Given the description of an element on the screen output the (x, y) to click on. 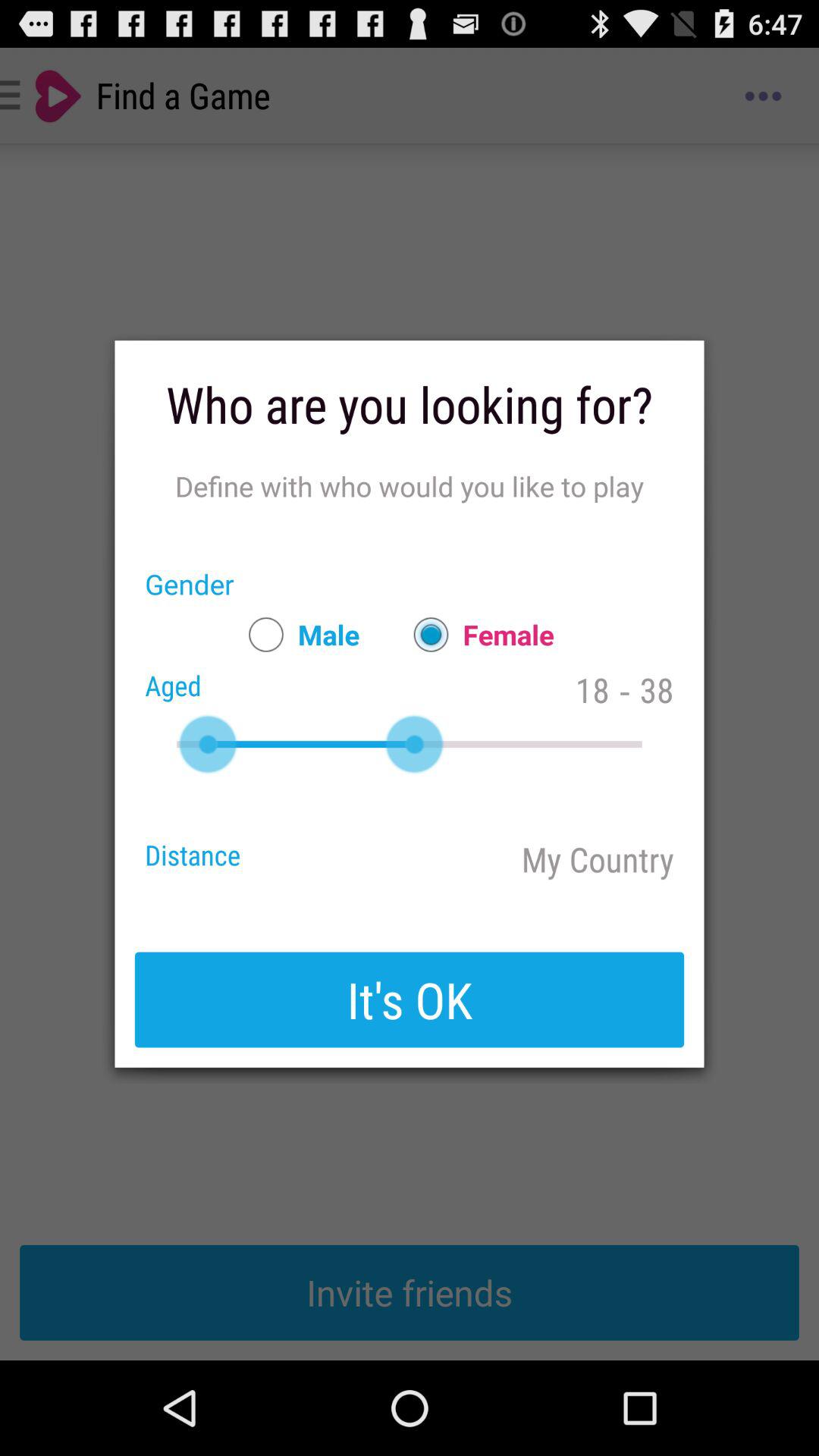
select item below the gender item (296, 634)
